Given the description of an element on the screen output the (x, y) to click on. 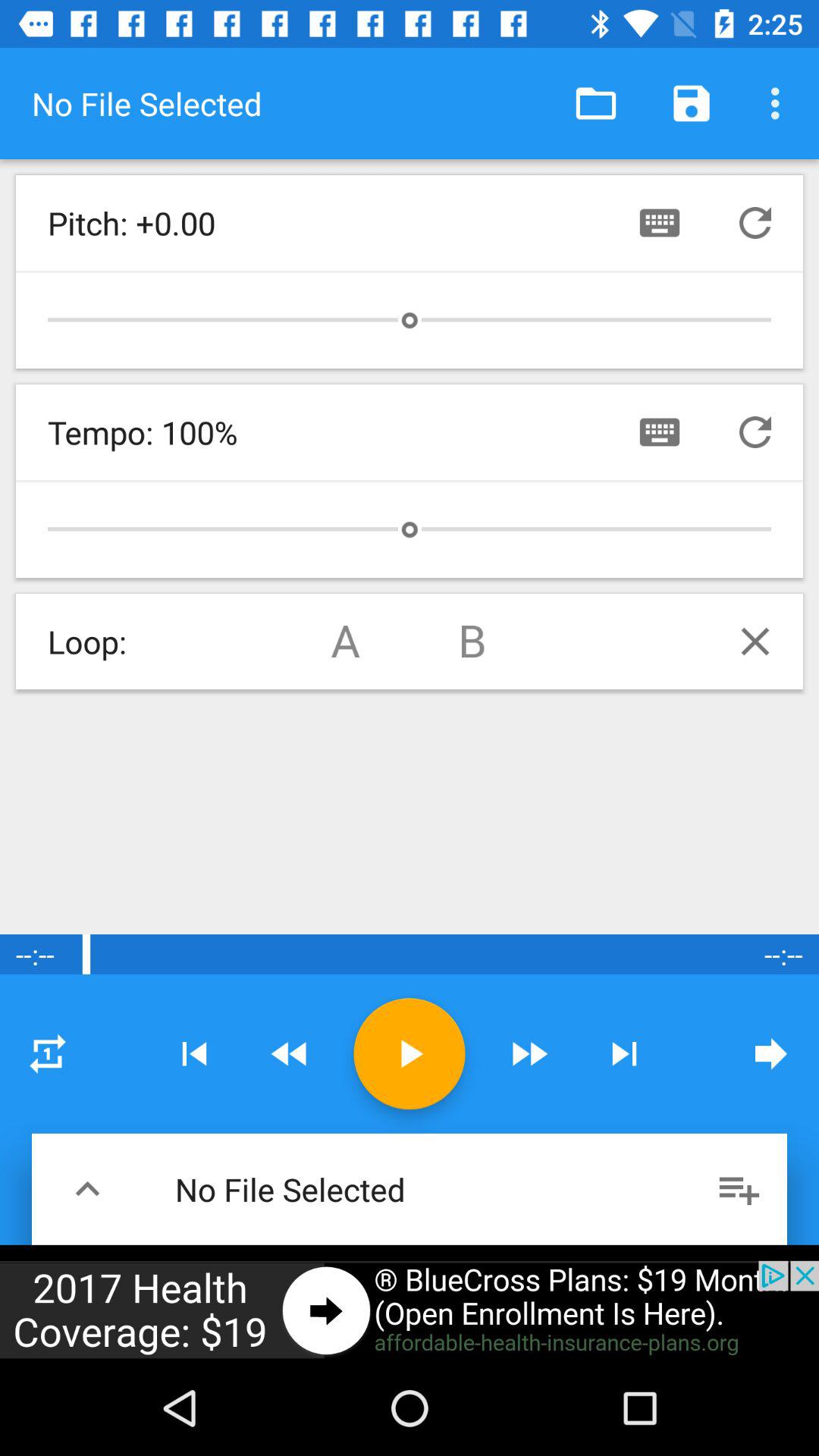
next button (624, 1053)
